Given the description of an element on the screen output the (x, y) to click on. 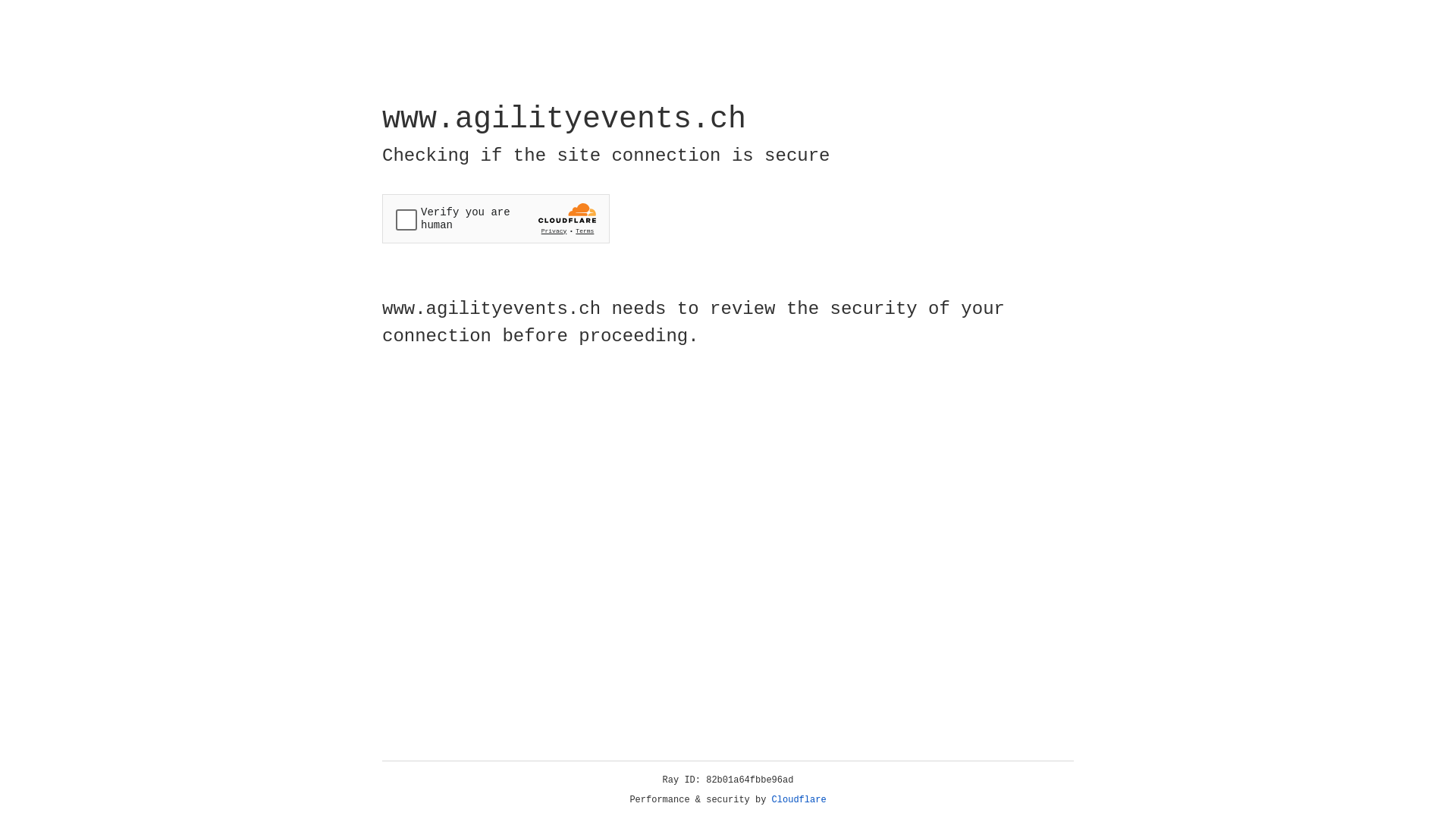
Cloudflare Element type: text (798, 799)
Widget containing a Cloudflare security challenge Element type: hover (495, 218)
